Given the description of an element on the screen output the (x, y) to click on. 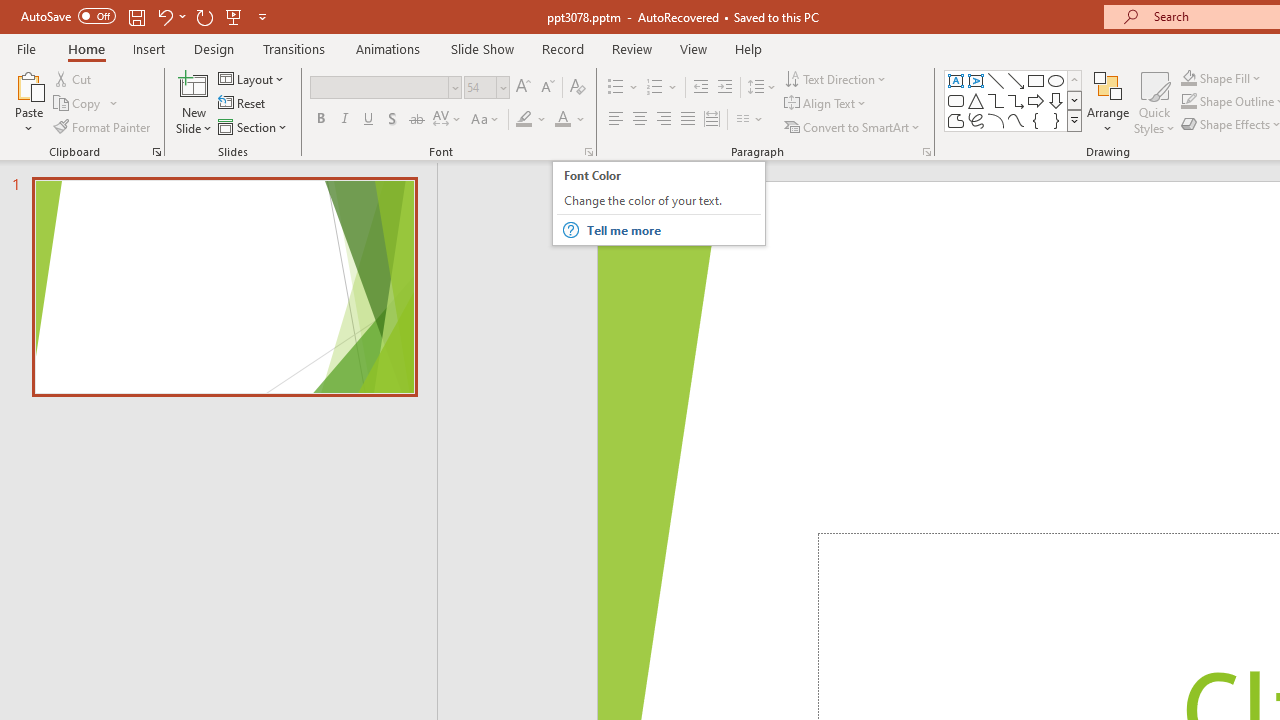
Italic (344, 119)
Save (136, 15)
Help (748, 48)
Copy (85, 103)
Decrease Font Size (547, 87)
Insert (149, 48)
Record (562, 48)
Curve (1016, 120)
Isosceles Triangle (975, 100)
Text Box (955, 80)
Review (631, 48)
Redo (204, 15)
